Given the description of an element on the screen output the (x, y) to click on. 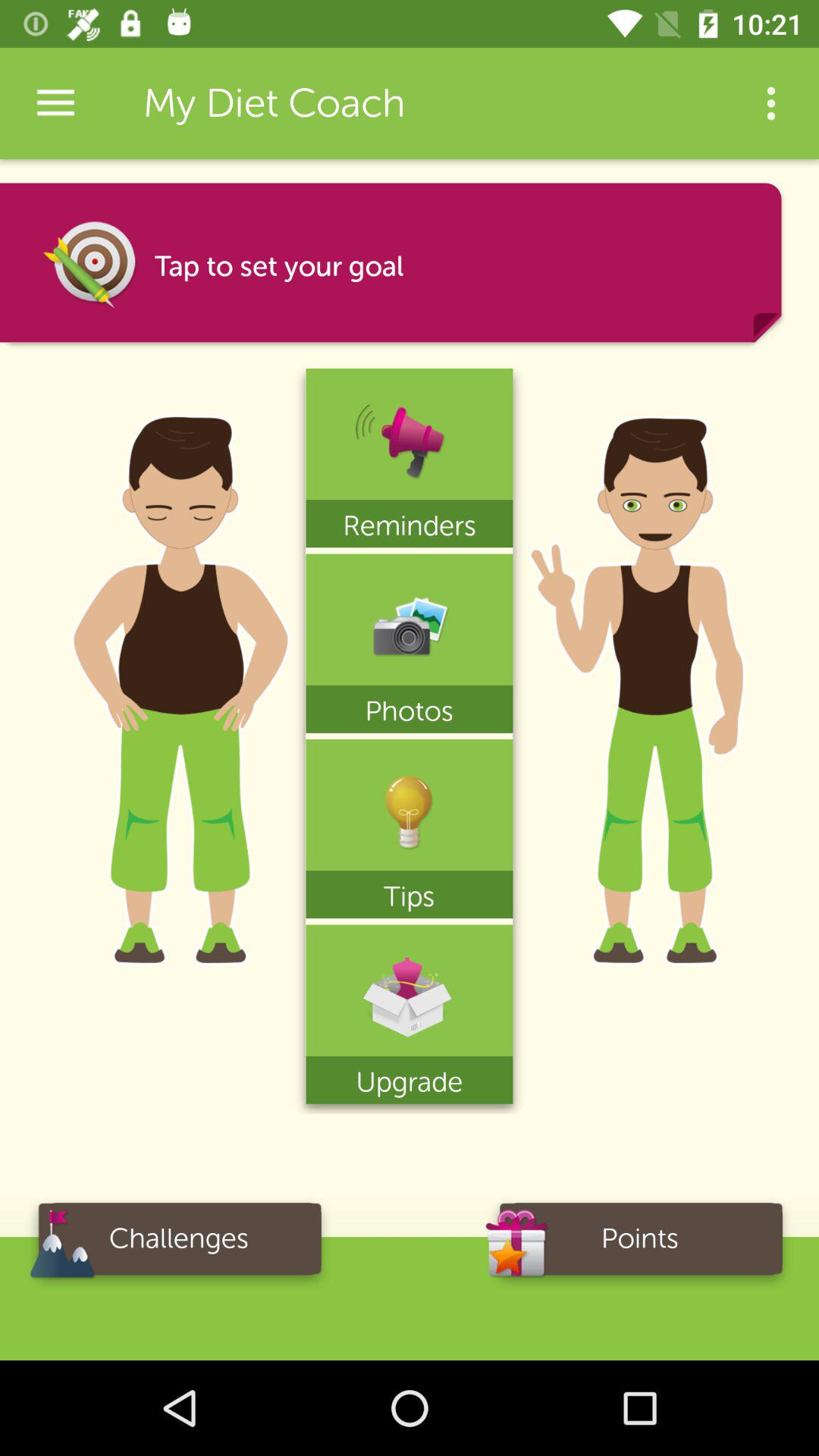
flip to points icon (639, 1243)
